Given the description of an element on the screen output the (x, y) to click on. 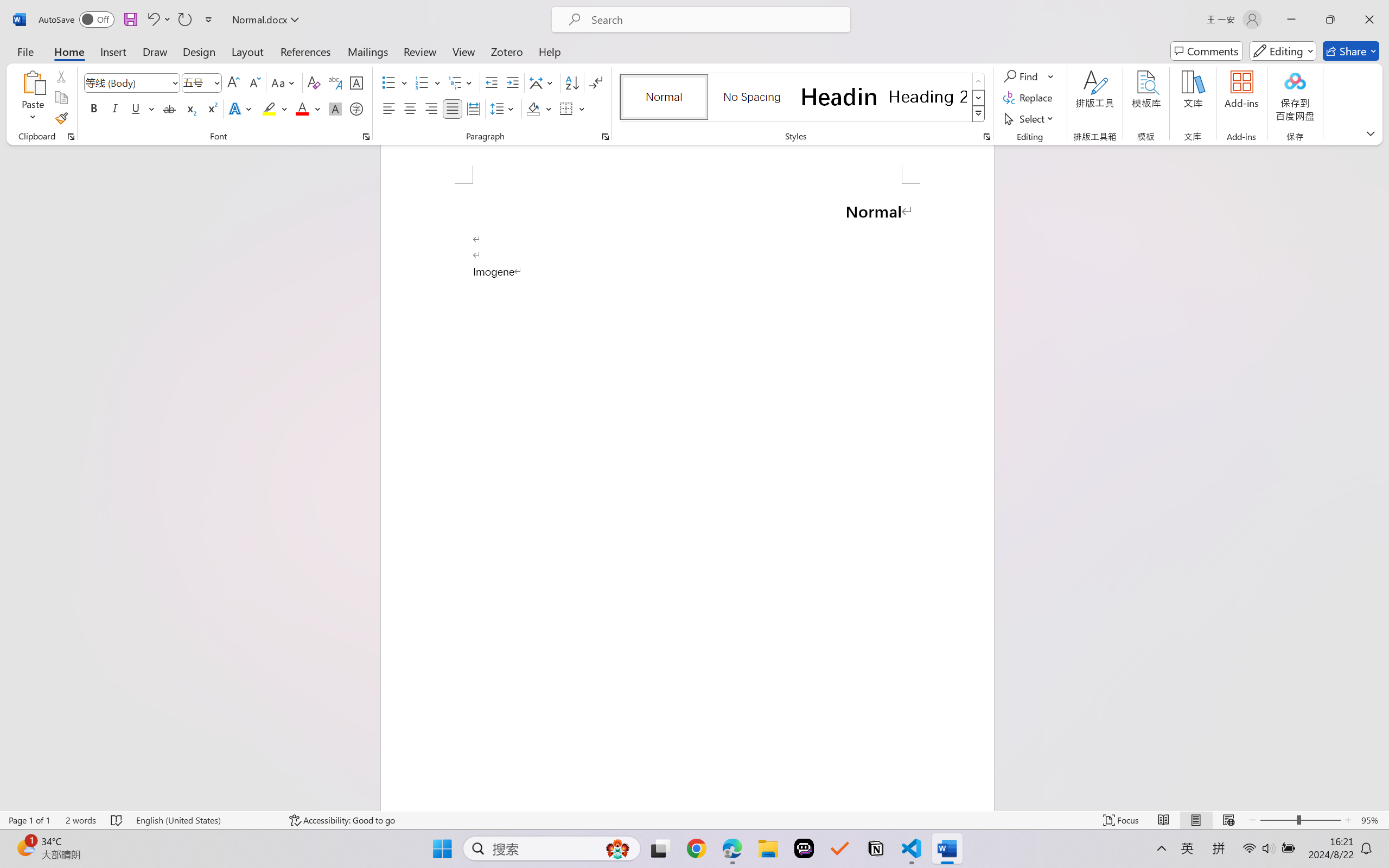
Open (215, 82)
Cut (60, 75)
Replace... (1029, 97)
Superscript (210, 108)
Text Highlight Color Yellow (269, 108)
Row Down (978, 97)
Font Color RGB(255, 0, 0) (302, 108)
Zoom 95% (1372, 819)
Microsoft search (715, 19)
Bold (94, 108)
